Given the description of an element on the screen output the (x, y) to click on. 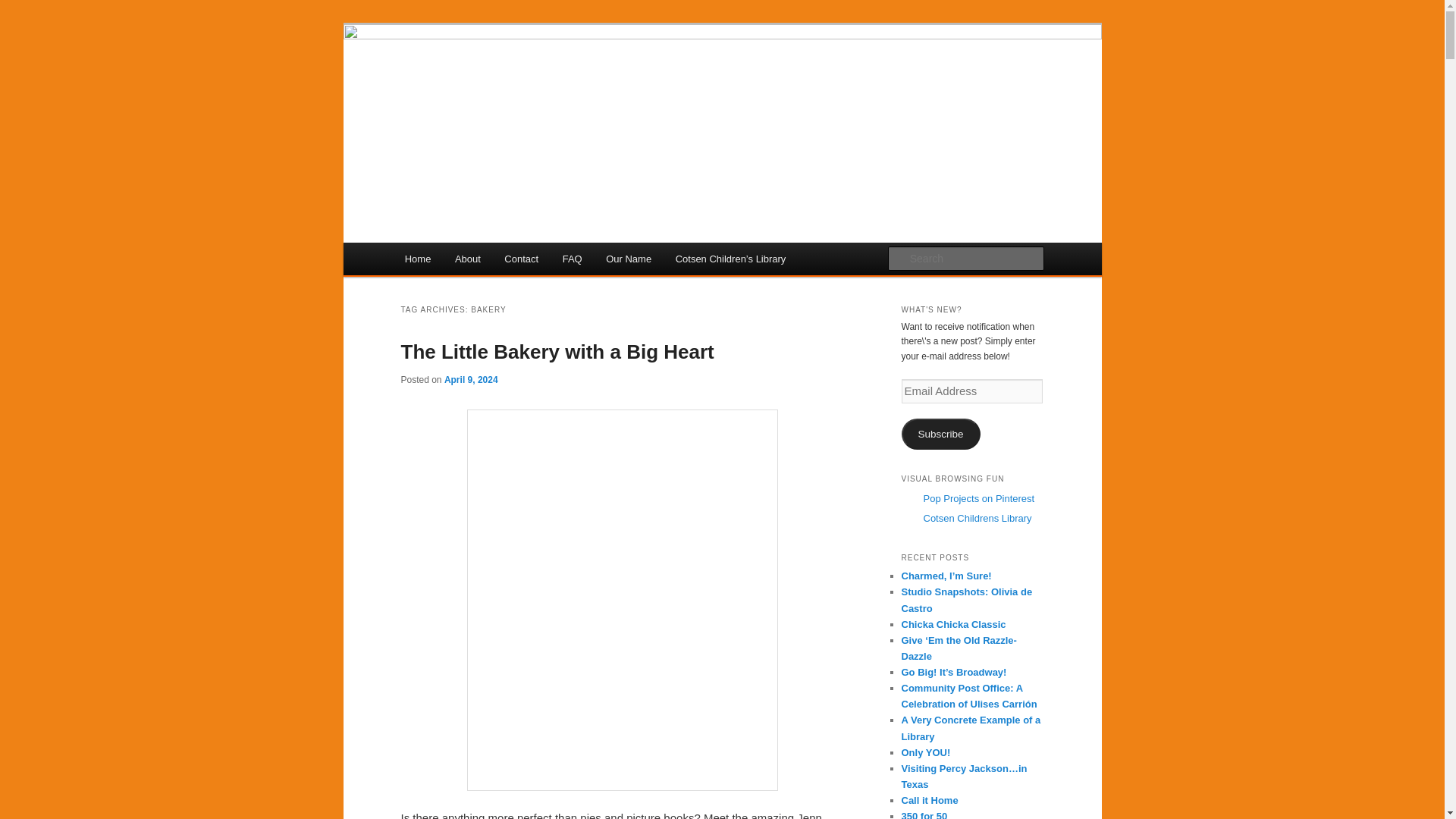
FAQ (572, 258)
Pop Goes the Page (503, 78)
About (467, 258)
Home (417, 258)
Contact (521, 258)
Search (24, 8)
The Little Bakery with a Big Heart (556, 351)
10:31 am (470, 379)
Our Name (628, 258)
April 9, 2024 (470, 379)
Pop Goes the Page (503, 78)
